Given the description of an element on the screen output the (x, y) to click on. 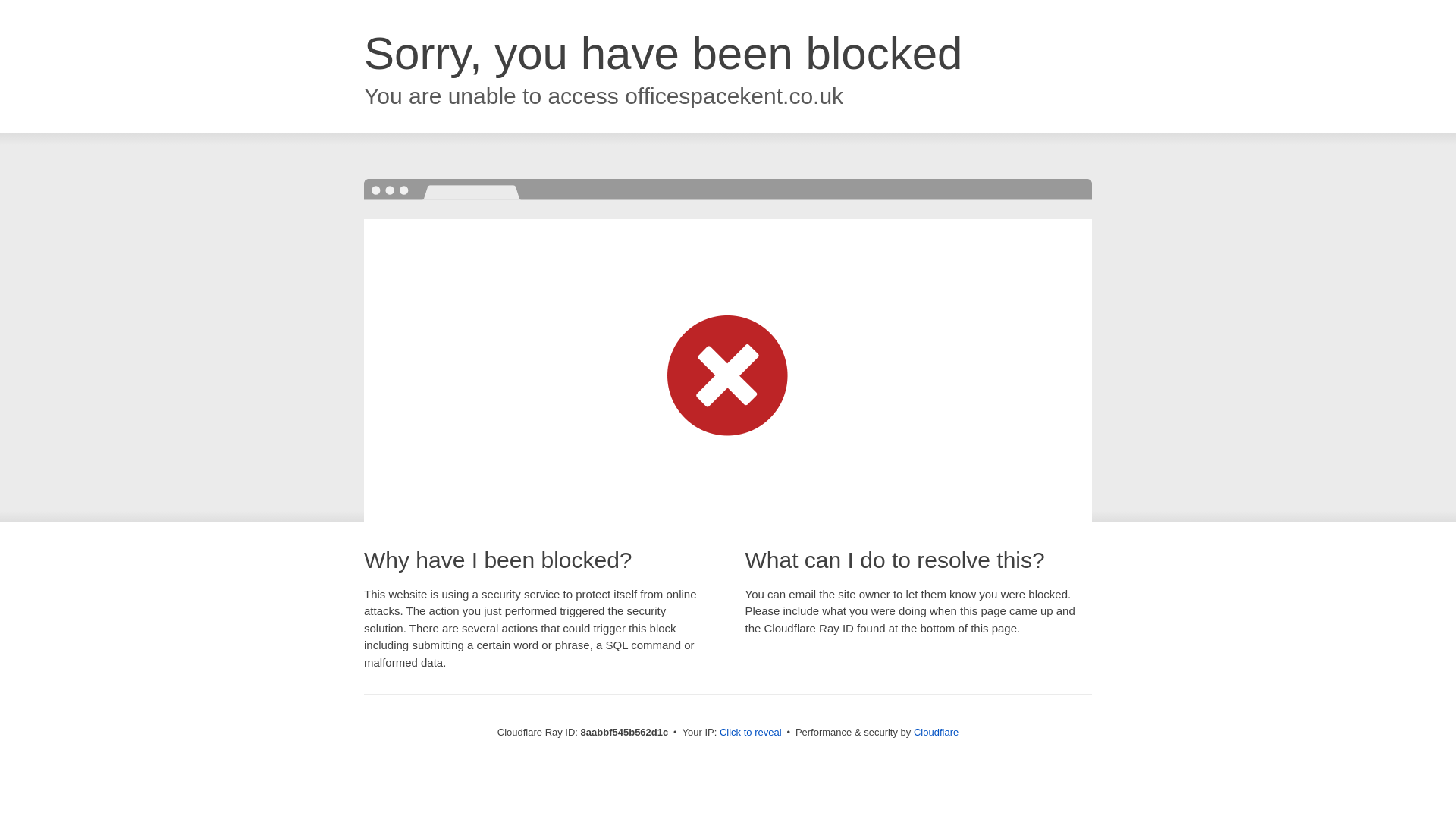
Click to reveal (750, 732)
Cloudflare (936, 731)
